Given the description of an element on the screen output the (x, y) to click on. 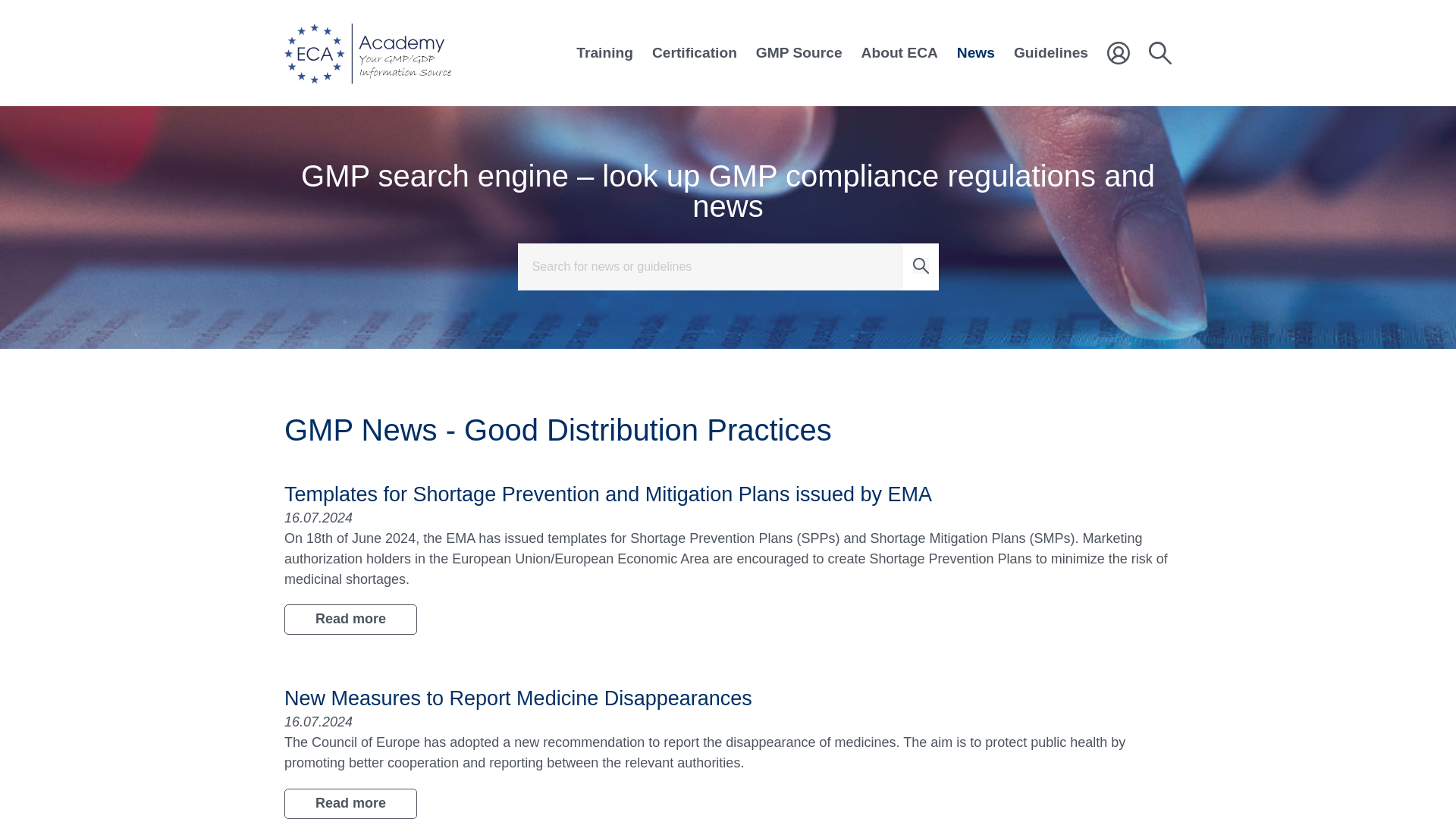
ECA Academy - ECA Academy (367, 53)
